Given the description of an element on the screen output the (x, y) to click on. 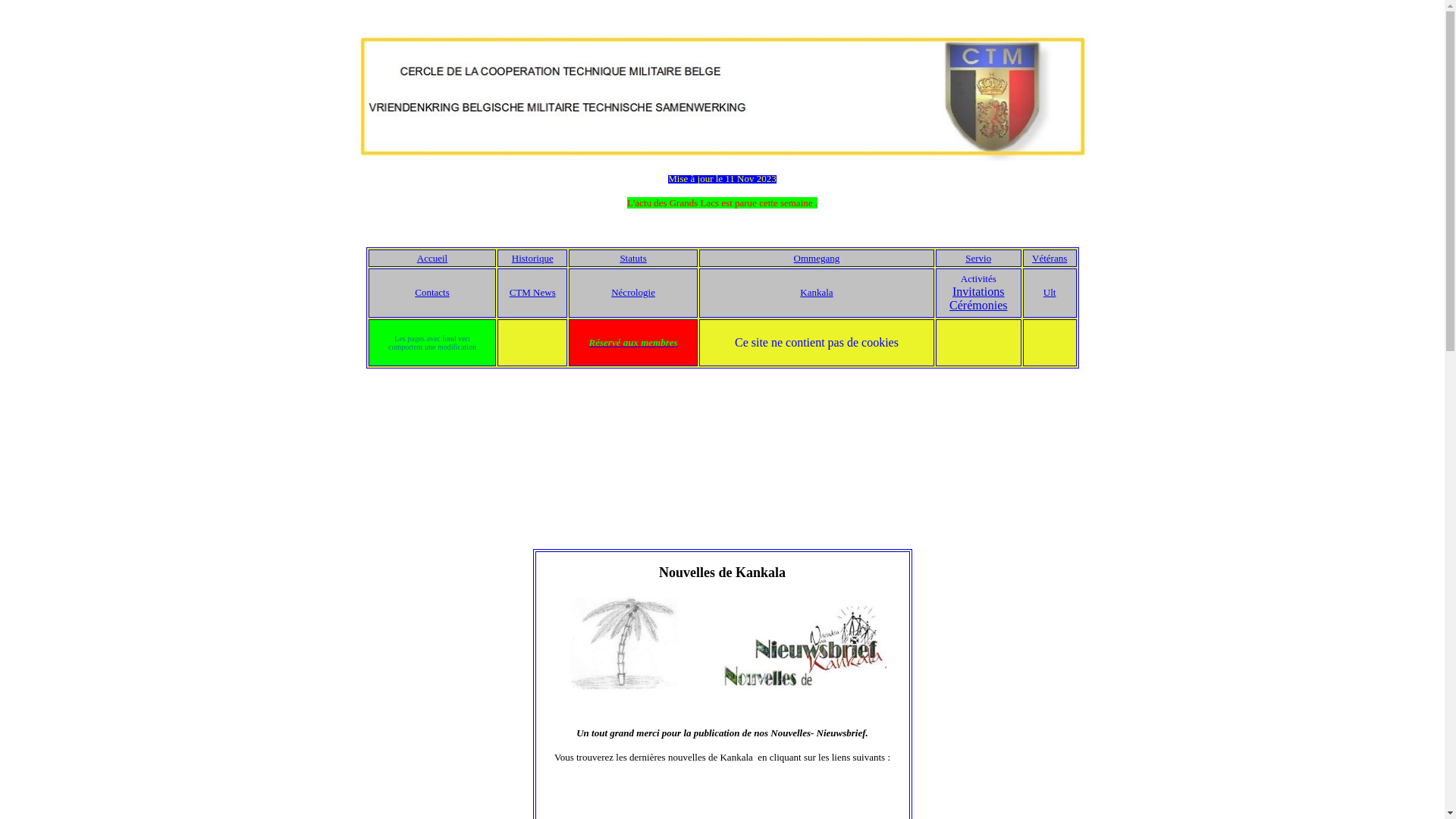
Accueil Element type: text (432, 257)
CTM News Element type: text (532, 292)
Servio Element type: text (978, 257)
Historique Element type: text (532, 257)
Invitations Element type: text (978, 291)
Contacts Element type: text (431, 292)
Ommegang Element type: text (816, 257)
Kankala Element type: text (816, 292)
Ult Element type: text (1049, 292)
Statuts Element type: text (632, 257)
